Given the description of an element on the screen output the (x, y) to click on. 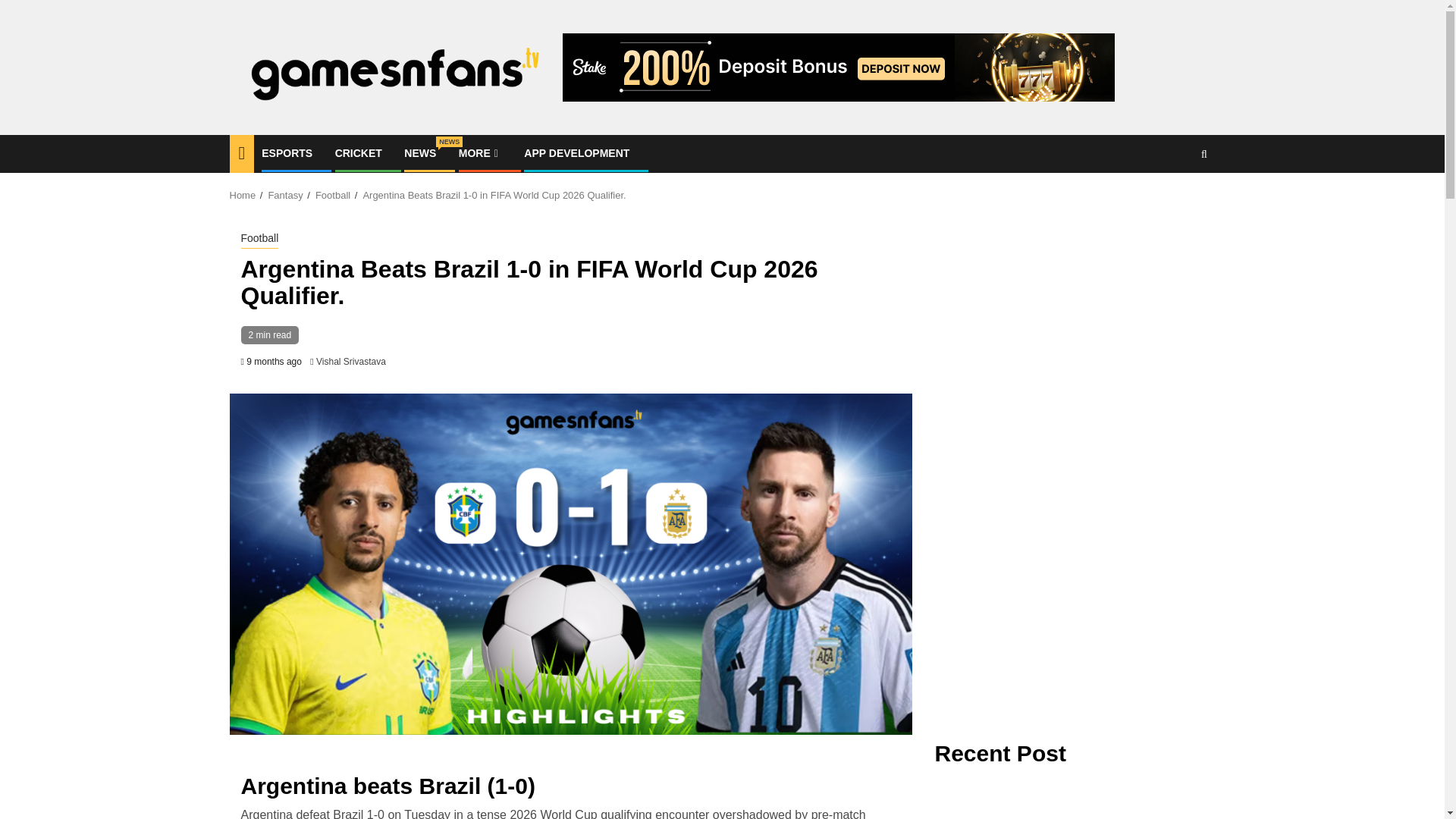
Football (332, 194)
Football (419, 152)
Argentina Beats Brazil 1-0 in FIFA World Cup 2026 Qualifier. (260, 239)
ESPORTS (494, 194)
CRICKET (287, 152)
APP DEVELOPMENT (357, 152)
Home (576, 152)
Fantasy (242, 194)
MORE (284, 194)
